Given the description of an element on the screen output the (x, y) to click on. 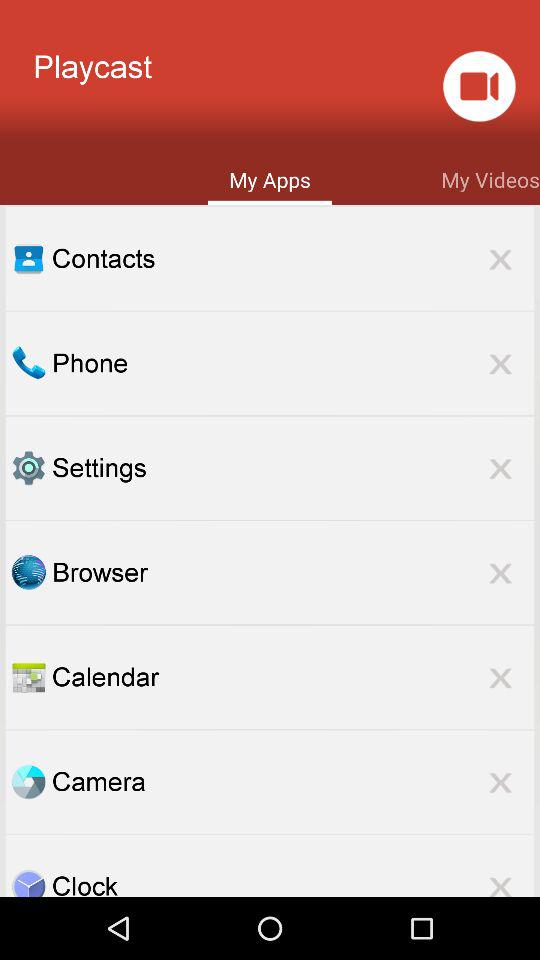
open the item above my videos app (478, 85)
